Given the description of an element on the screen output the (x, y) to click on. 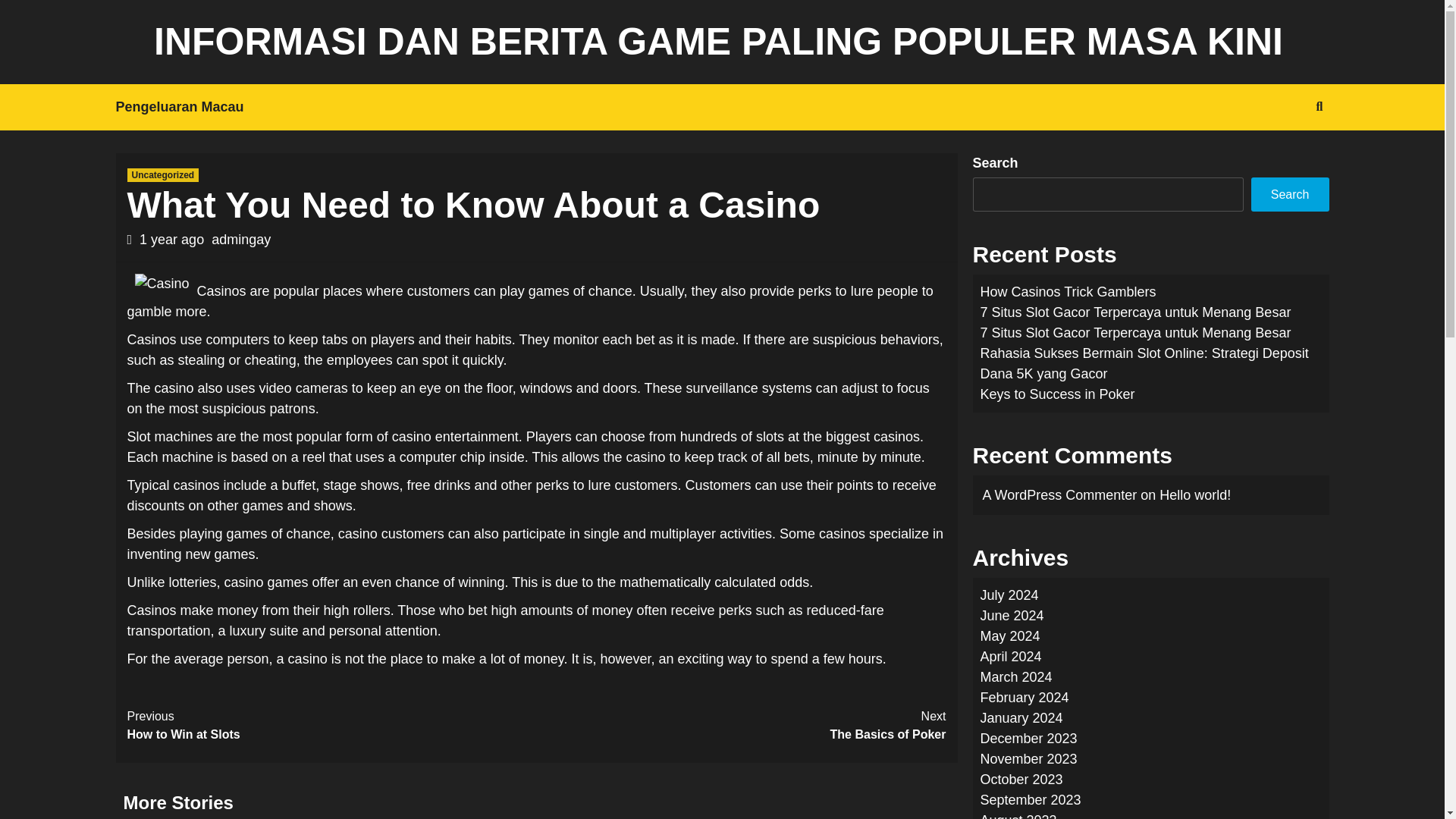
March 2024 (1015, 676)
Uncategorized (163, 174)
A WordPress Commenter (1059, 494)
Keys to Success in Poker (1056, 394)
Search (1289, 194)
June 2024 (1011, 615)
November 2023 (1028, 758)
Search (1283, 155)
December 2023 (1028, 738)
January 2024 (1020, 717)
7 Situs Slot Gacor Terpercaya untuk Menang Besar (332, 725)
Hello world! (1134, 312)
April 2024 (741, 725)
